Given the description of an element on the screen output the (x, y) to click on. 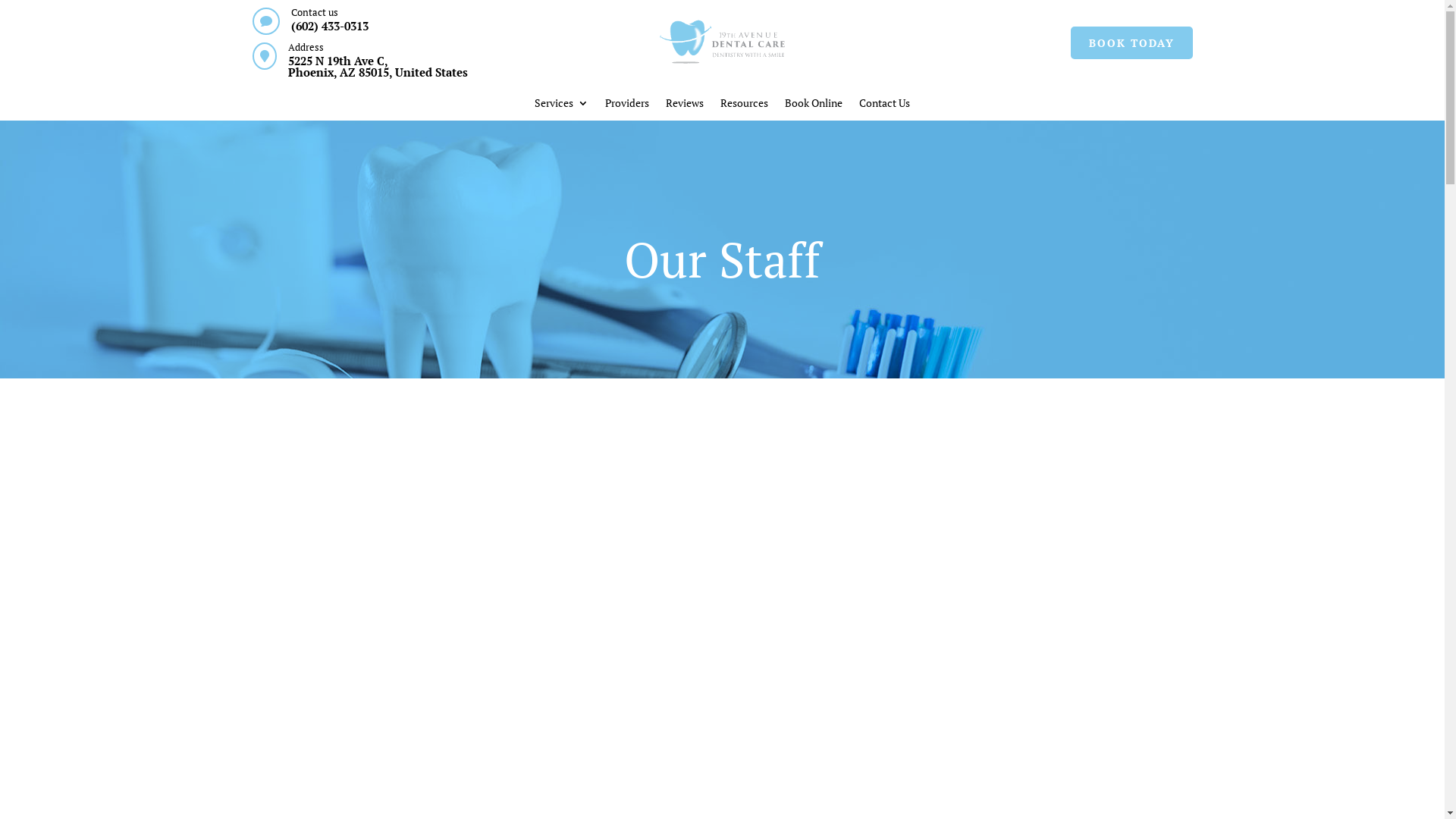
Book Online Element type: text (813, 105)
Services Element type: text (561, 105)
divi-logo-black Element type: hover (721, 42)
Address Element type: text (305, 46)
Contact Us Element type: text (884, 105)
Reviews Element type: text (684, 105)
Providers Element type: text (627, 105)
Contact us Element type: text (314, 11)
BOOK TODAY Element type: text (1131, 42)
Resources Element type: text (744, 105)
